Given the description of an element on the screen output the (x, y) to click on. 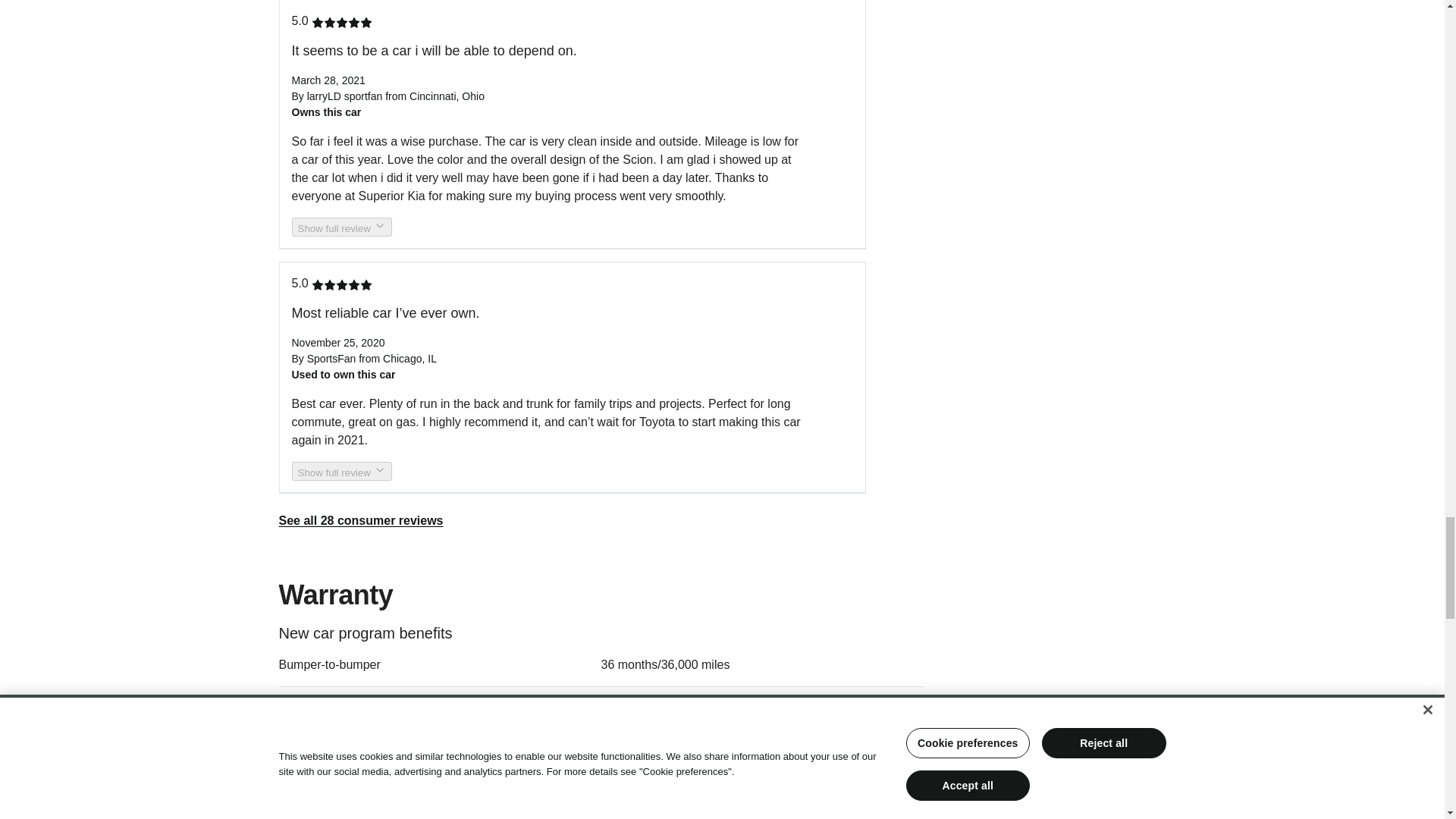
See all 28 consumer reviews (361, 520)
